Given the description of an element on the screen output the (x, y) to click on. 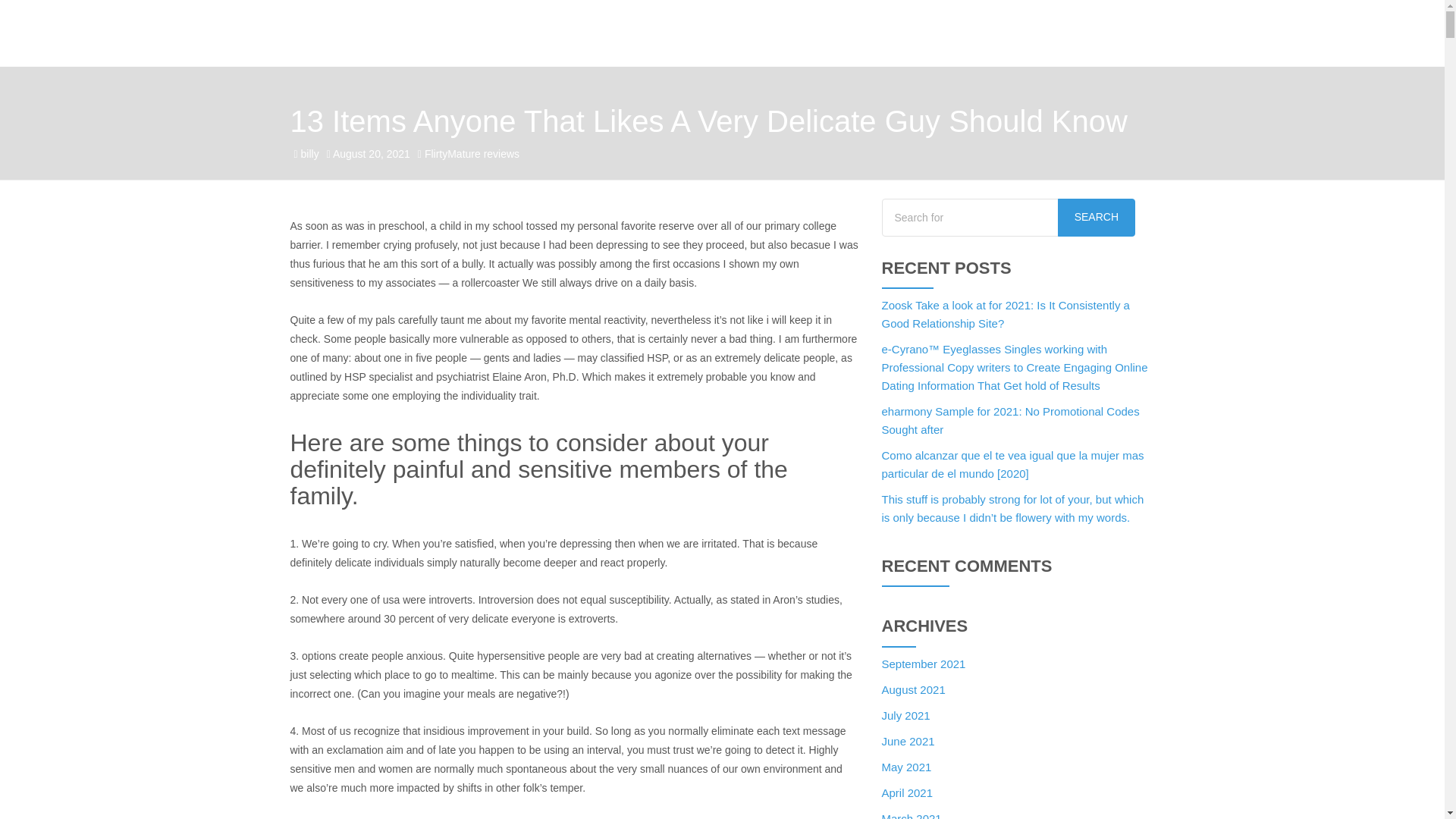
May 2021 (905, 766)
FlirtyMature reviews (472, 153)
SEARCH (1096, 217)
September 2021 (922, 663)
March 2021 (910, 815)
August 2021 (912, 689)
July 2021 (905, 715)
eharmony Sample for 2021: No Promotional Codes Sought after (1009, 419)
June 2021 (907, 740)
April 2021 (906, 792)
billy (309, 153)
